Given the description of an element on the screen output the (x, y) to click on. 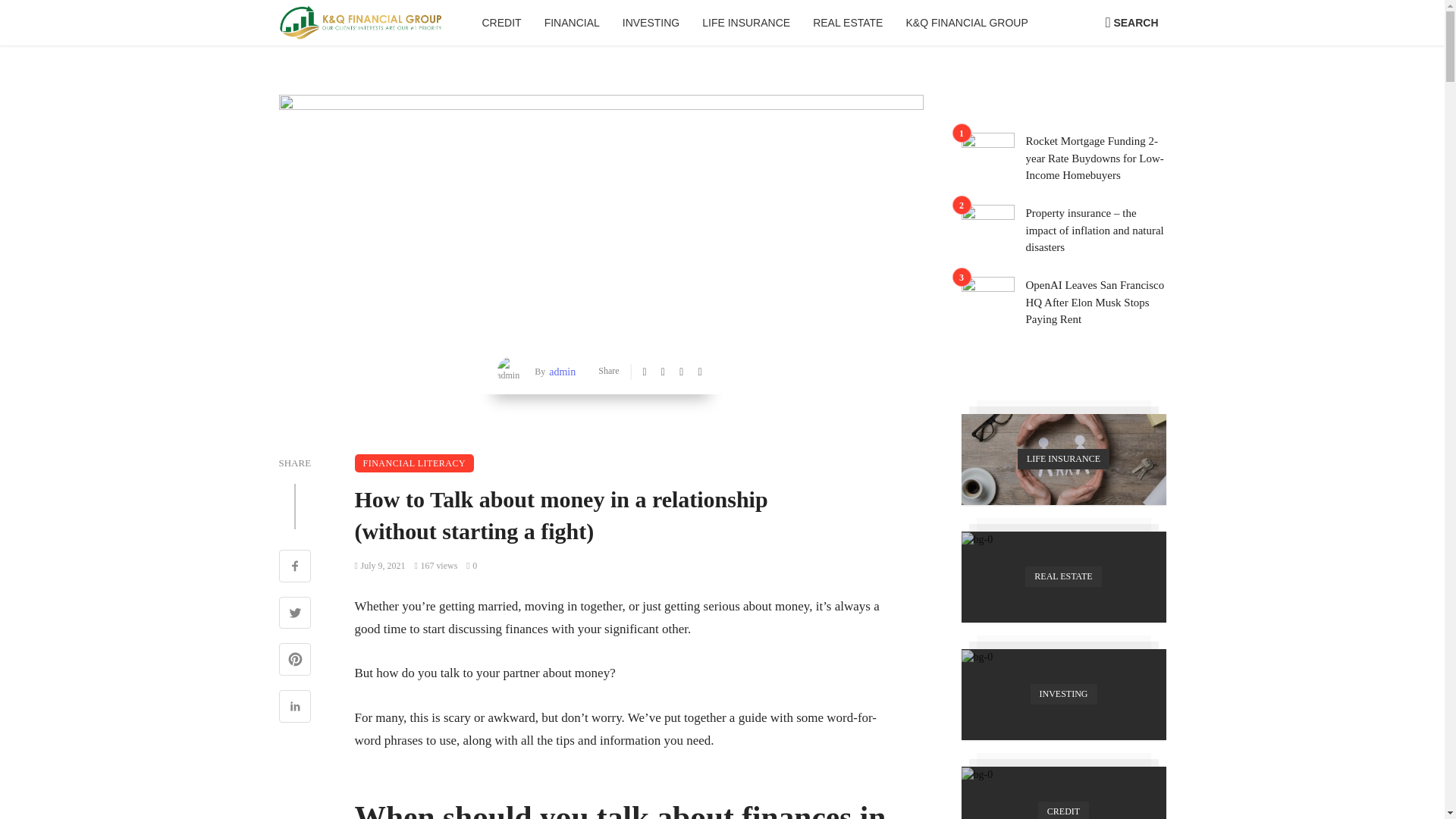
INVESTING (650, 22)
admin (559, 371)
SEARCH (1131, 22)
Share on Facebook (295, 567)
Posts by admin (559, 371)
July 9, 2021 at 9:00 pm (380, 565)
0 (471, 565)
Share on Pinterest (295, 660)
REAL ESTATE (847, 22)
Share on Linkedin (295, 708)
